Given the description of an element on the screen output the (x, y) to click on. 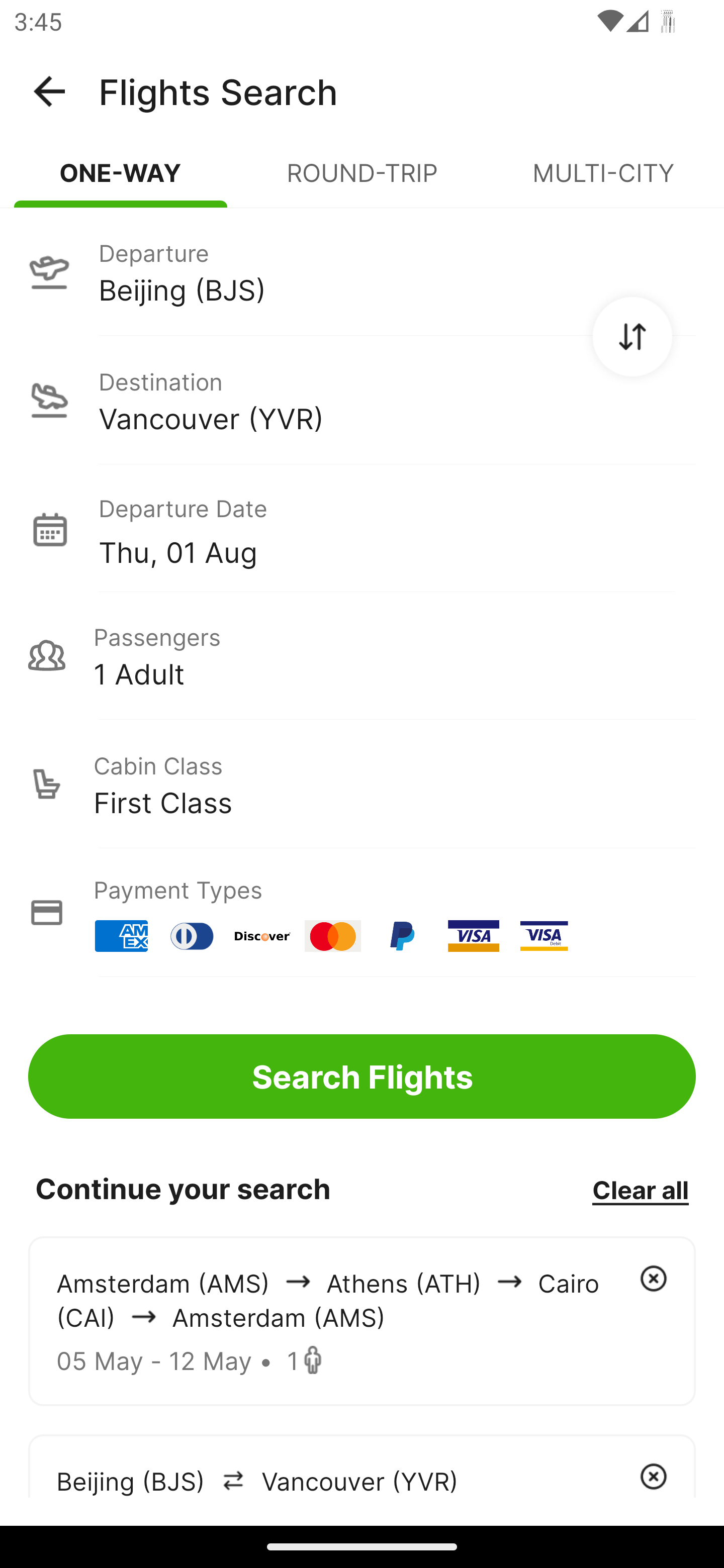
ONE-WAY (120, 180)
ROUND-TRIP (361, 180)
MULTI-CITY (603, 180)
Departure Beijing (BJS) (362, 270)
Destination Vancouver (YVR) (362, 400)
Departure Date Thu, 01 Aug (396, 528)
Passengers 1 Adult (362, 655)
Cabin Class First Class (362, 783)
Payment Types (362, 912)
Search Flights (361, 1075)
Clear all (640, 1189)
Beijing (BJS)  arrowIcon  Vancouver (YVR) (361, 1465)
